Given the description of an element on the screen output the (x, y) to click on. 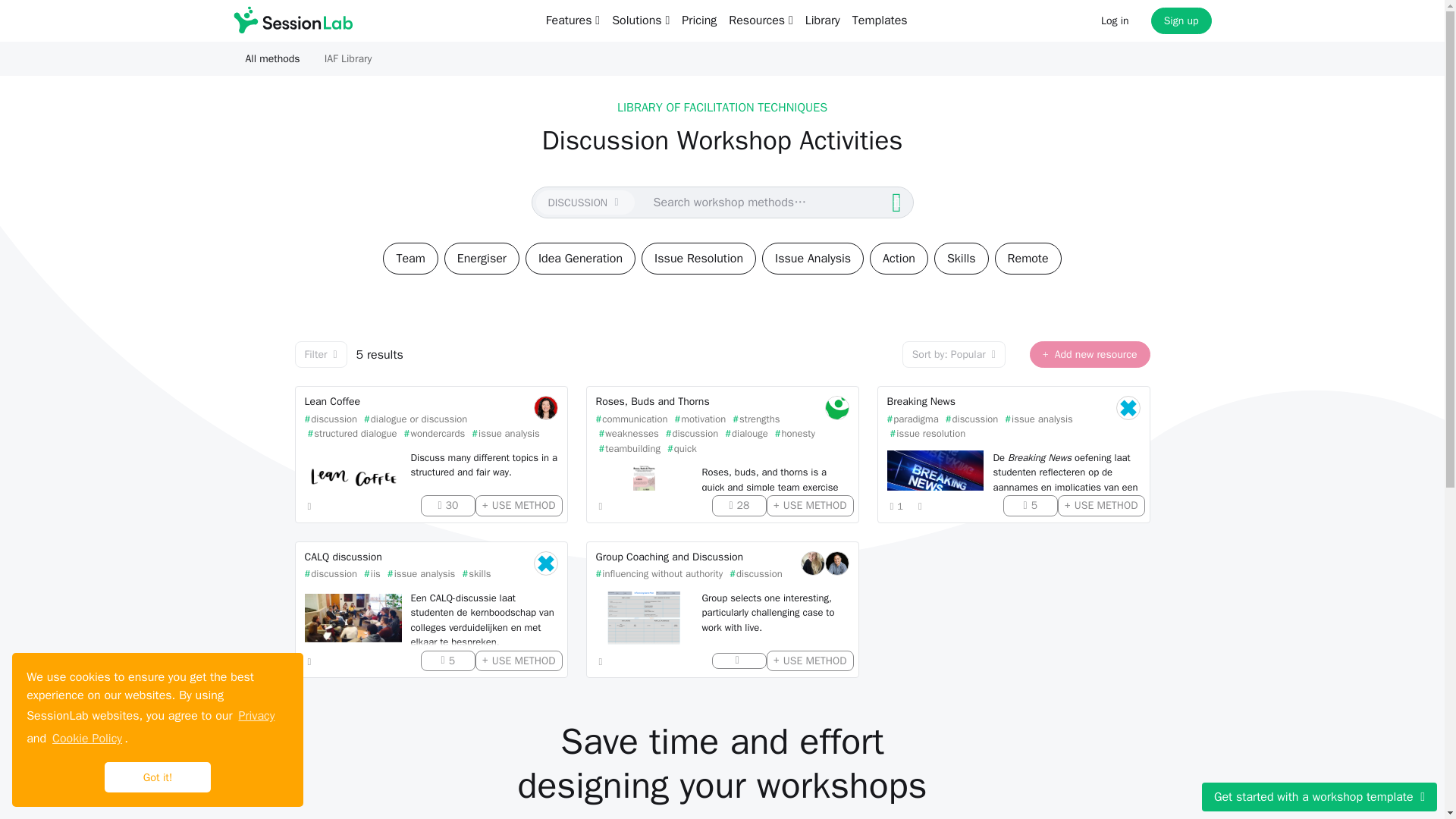
Team (410, 258)
Solutions (640, 20)
Pricing (698, 20)
Privacy (255, 715)
IAF Library (348, 58)
Cookie Policy (86, 738)
Library (822, 20)
Templates (879, 20)
Solutions (640, 20)
All methods (272, 58)
Got it! (157, 777)
Features (572, 20)
Features (572, 20)
Resources (759, 20)
Sign up (1181, 20)
